Given the description of an element on the screen output the (x, y) to click on. 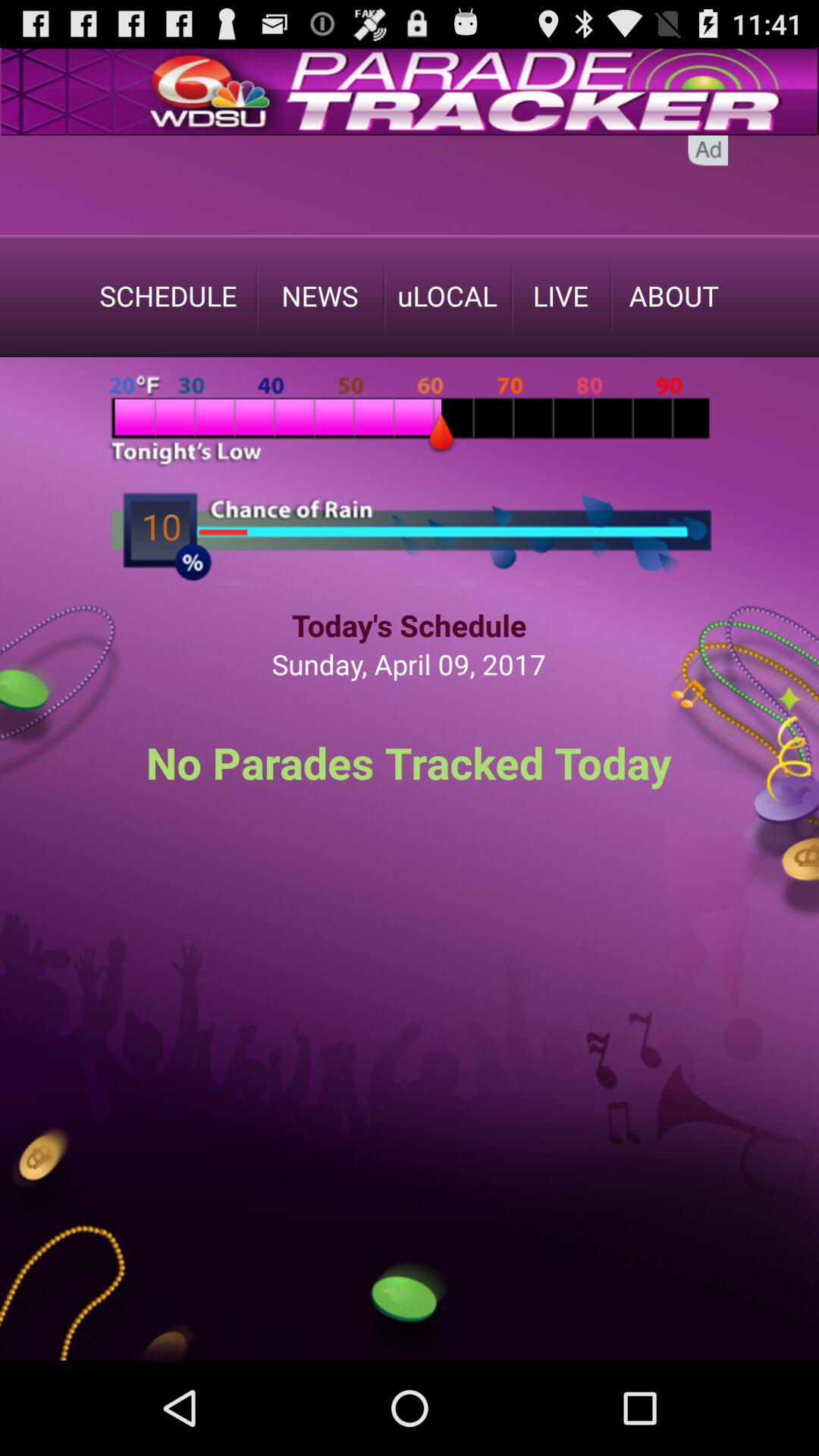
click ad (708, 150)
click on about (674, 295)
click on schedule (168, 295)
select the text in the 2nd place (319, 295)
click the text which is just beside news (446, 295)
select the green coin which is in the bottom (409, 1309)
